Given the description of an element on the screen output the (x, y) to click on. 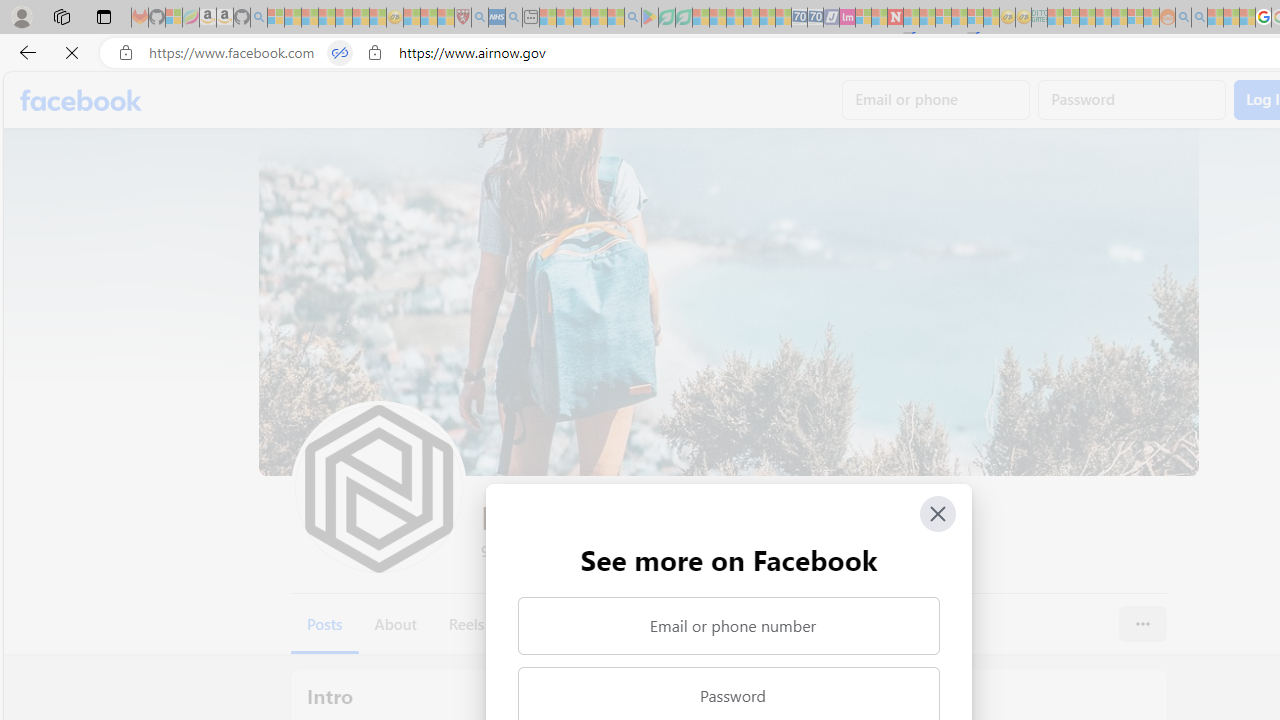
Recipes - MSN - Sleeping (411, 17)
Kinda Frugal - MSN - Sleeping (1119, 17)
New tab - Sleeping (530, 17)
Robert H. Shmerling, MD - Harvard Health - Sleeping (462, 17)
utah sues federal government - Search - Sleeping (513, 17)
Cheap Car Rentals - Save70.com - Sleeping (799, 17)
Password (1132, 99)
DITOGAMES AG Imprint - Sleeping (1039, 17)
